Given the description of an element on the screen output the (x, y) to click on. 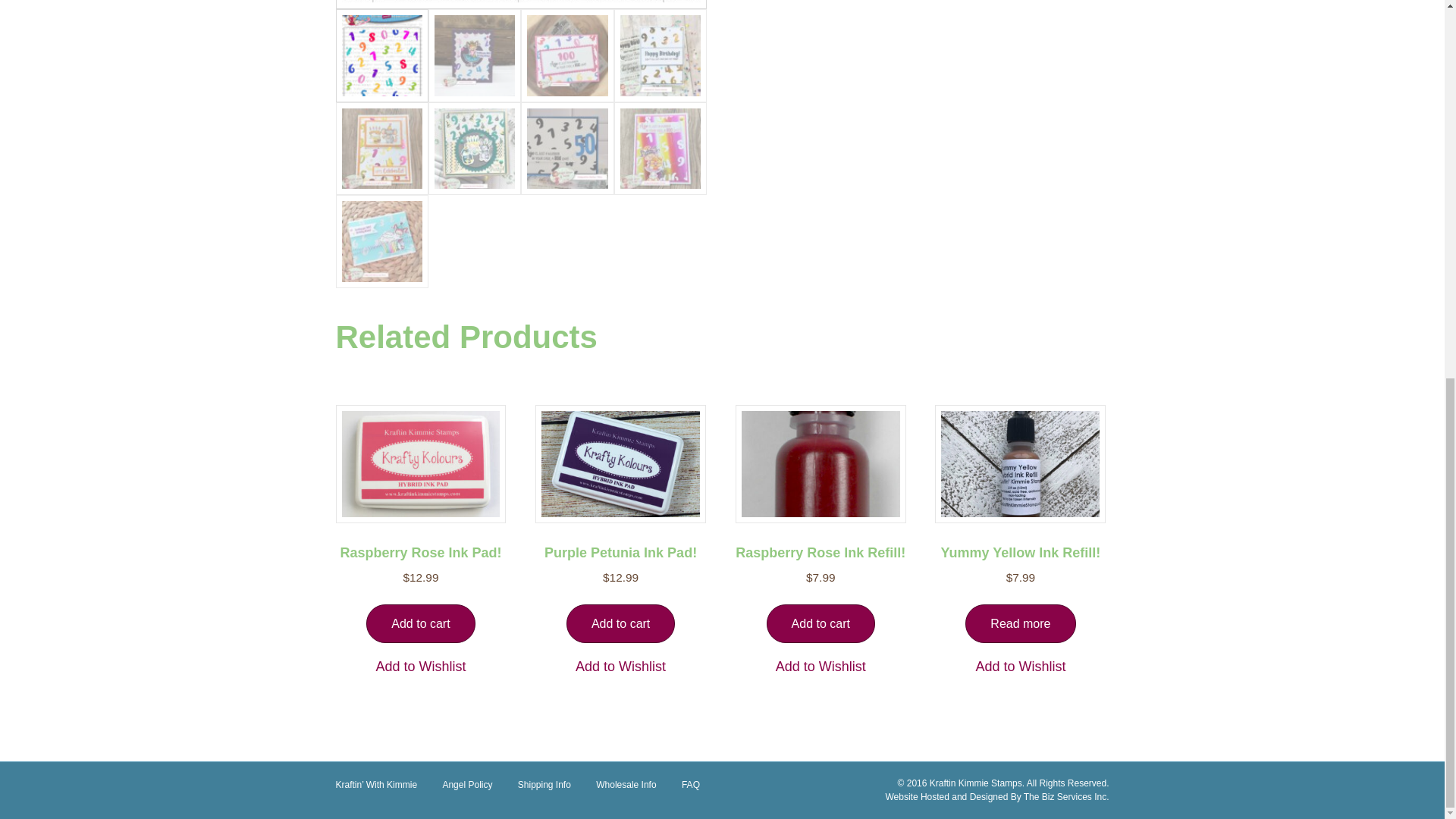
Number It (520, 4)
